Given the description of an element on the screen output the (x, y) to click on. 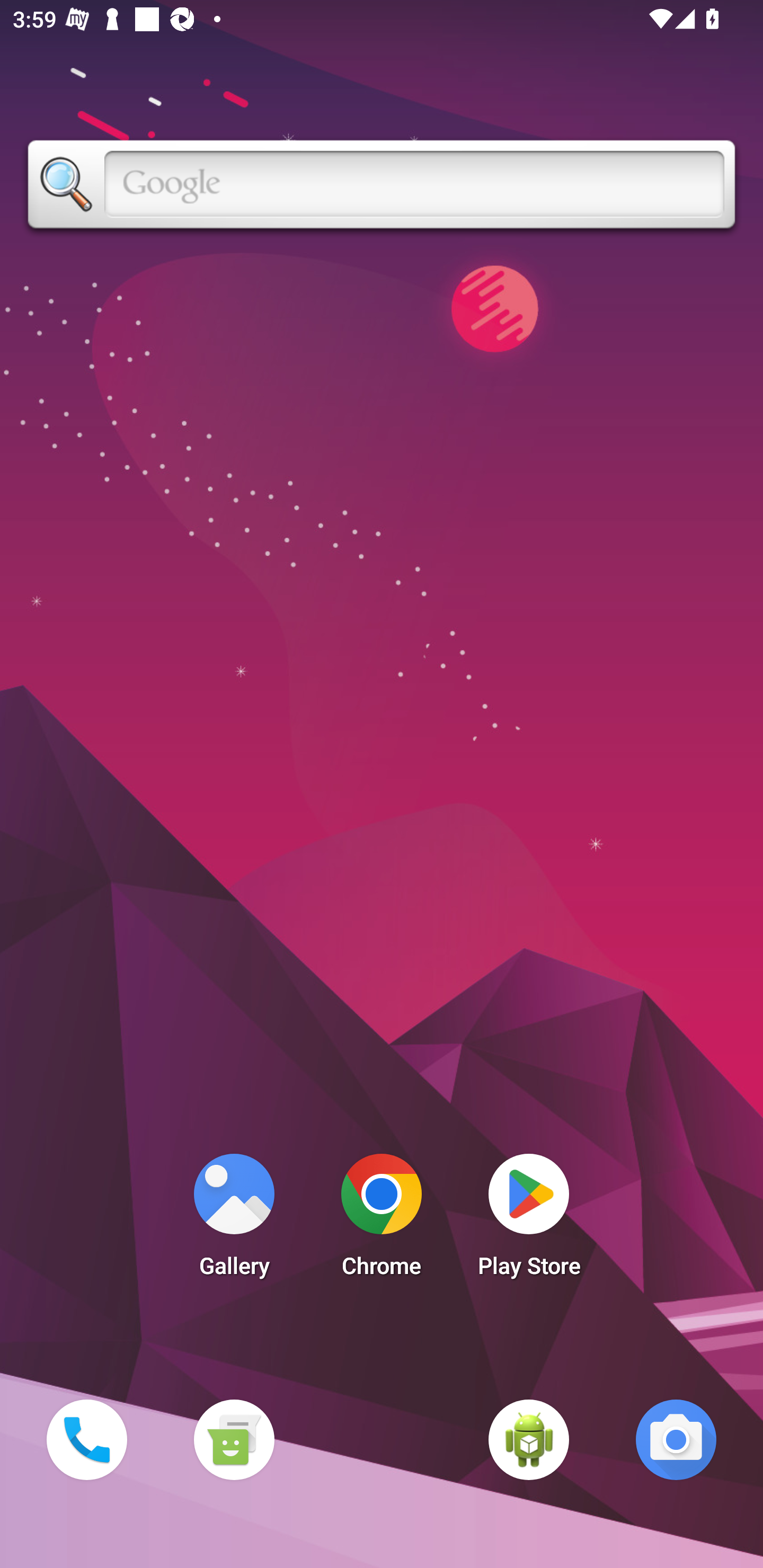
Gallery (233, 1220)
Chrome (381, 1220)
Play Store (528, 1220)
Phone (86, 1439)
Messaging (233, 1439)
WebView Browser Tester (528, 1439)
Camera (676, 1439)
